Given the description of an element on the screen output the (x, y) to click on. 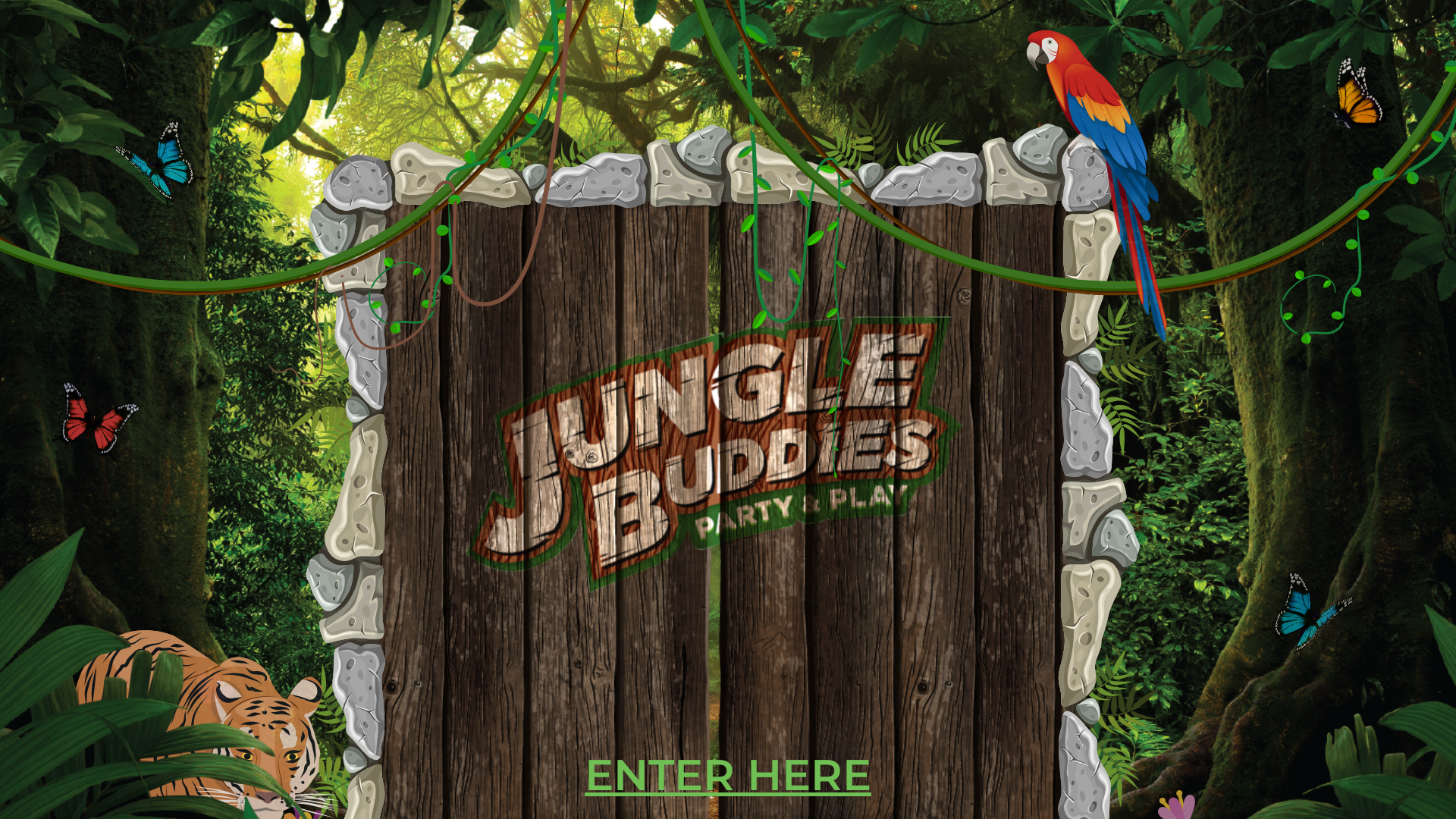
ENTER HERE Element type: text (727, 774)
